Given the description of an element on the screen output the (x, y) to click on. 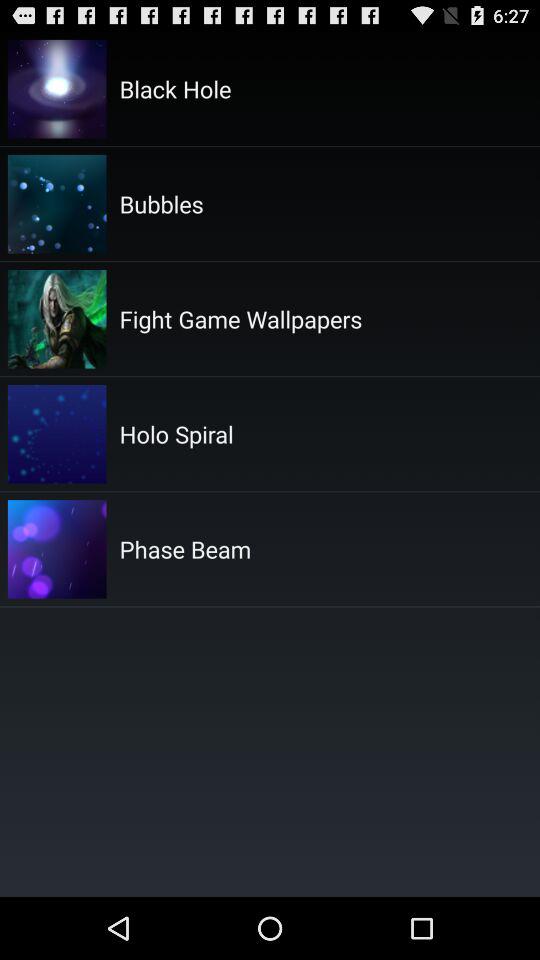
press bubbles item (161, 203)
